Given the description of an element on the screen output the (x, y) to click on. 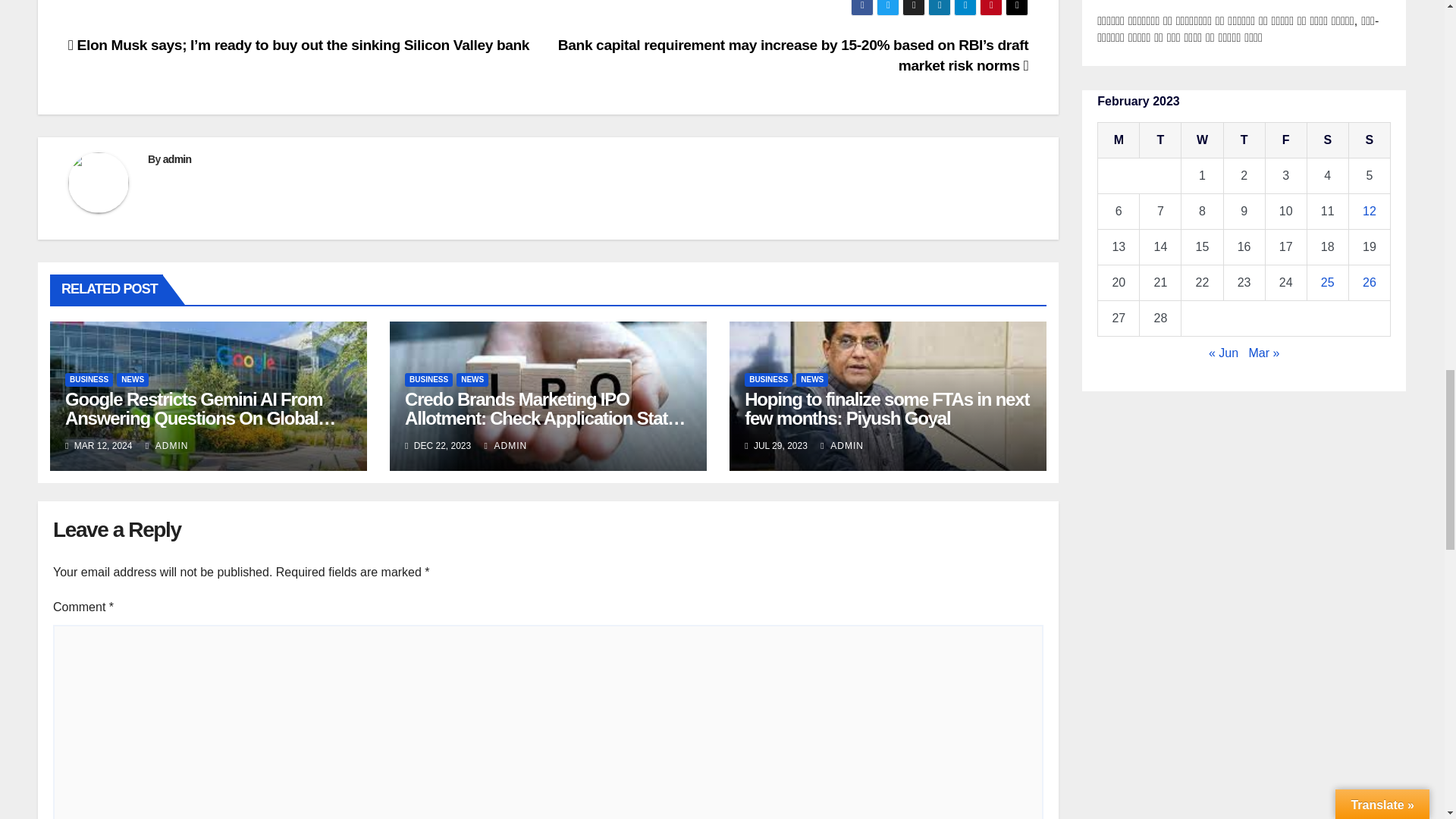
Monday (1118, 140)
NEWS (132, 379)
admin (177, 159)
BUSINESS (428, 379)
ADMIN (167, 445)
BUSINESS (89, 379)
